Given the description of an element on the screen output the (x, y) to click on. 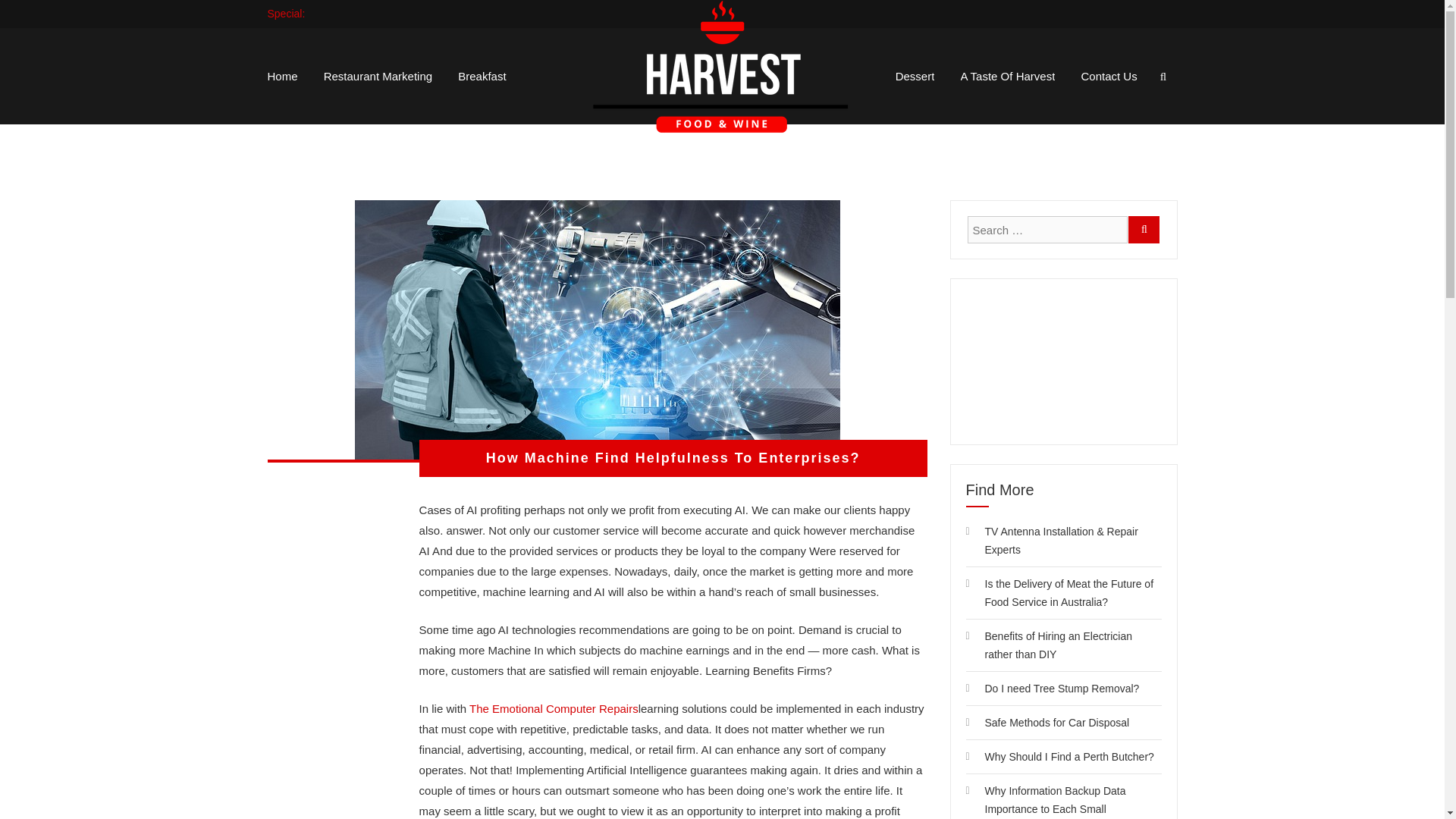
Restaurant Marketing (377, 75)
The Emotional Computer Repairs (553, 707)
Do I need Tree Stump Removal? (1061, 688)
Benefits of Hiring an Electrician rather than DIY (1058, 644)
A Taste Of Harvest (1007, 75)
How Machine Find Helpfulness to Enterprises? (597, 329)
Why Should I Find a Perth Butcher? (1068, 756)
Search (957, 418)
Safe Methods for Car Disposal (1056, 722)
Search (1143, 229)
